Given the description of an element on the screen output the (x, y) to click on. 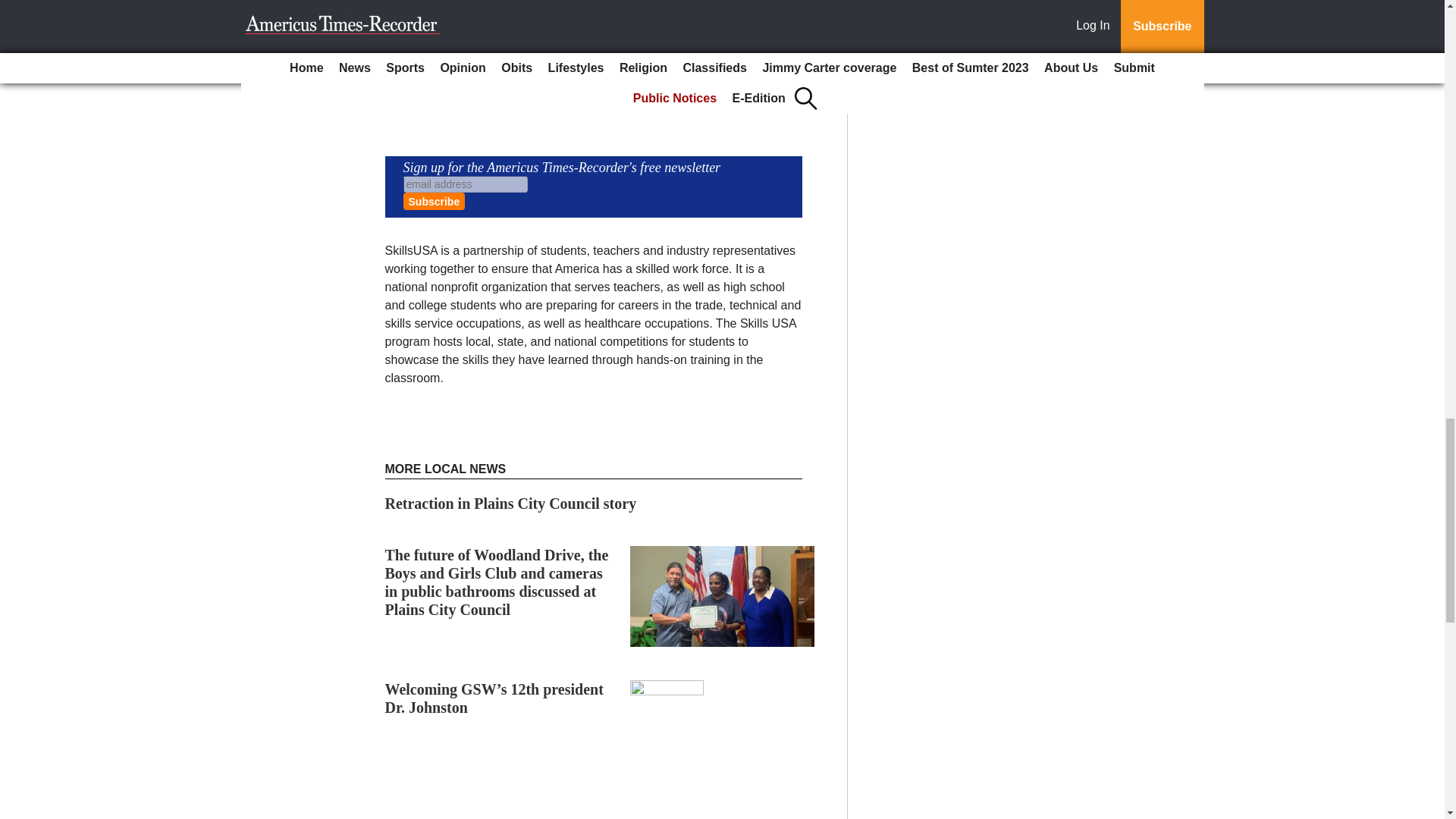
Subscribe (434, 200)
Retraction in Plains City Council story (511, 503)
Area Beat Report June 4, 2024 (484, 817)
Retraction in Plains City Council story (511, 503)
Subscribe (434, 200)
Area Beat Report June 4, 2024 (484, 817)
